Given the description of an element on the screen output the (x, y) to click on. 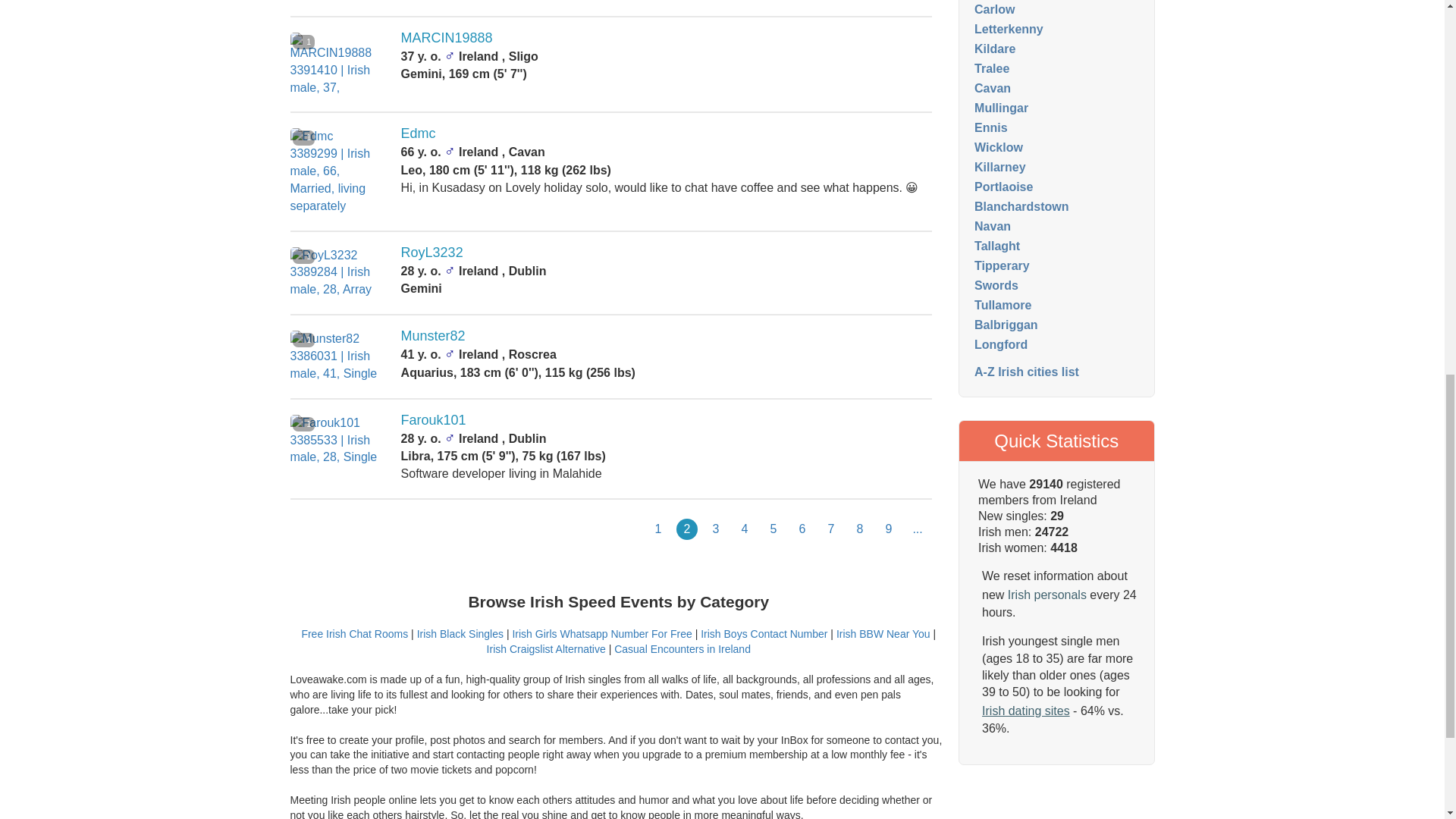
MARCIN19888 (447, 37)
Edmc (418, 133)
Munster82 (433, 335)
Farouk101 (433, 419)
RoyL3232 (432, 252)
